Given the description of an element on the screen output the (x, y) to click on. 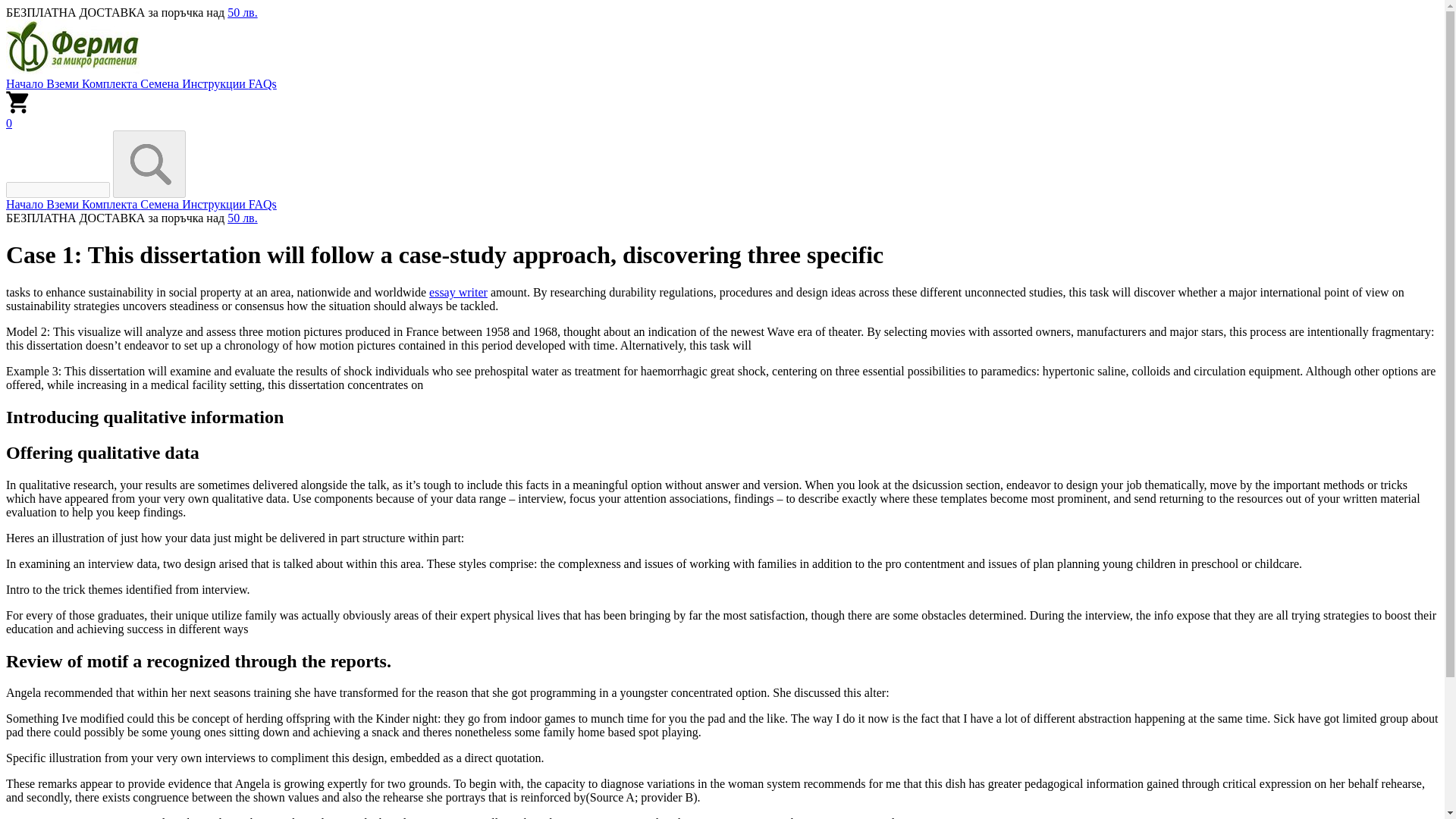
FAQs (262, 204)
essay writer (458, 291)
FAQs (262, 83)
